Given the description of an element on the screen output the (x, y) to click on. 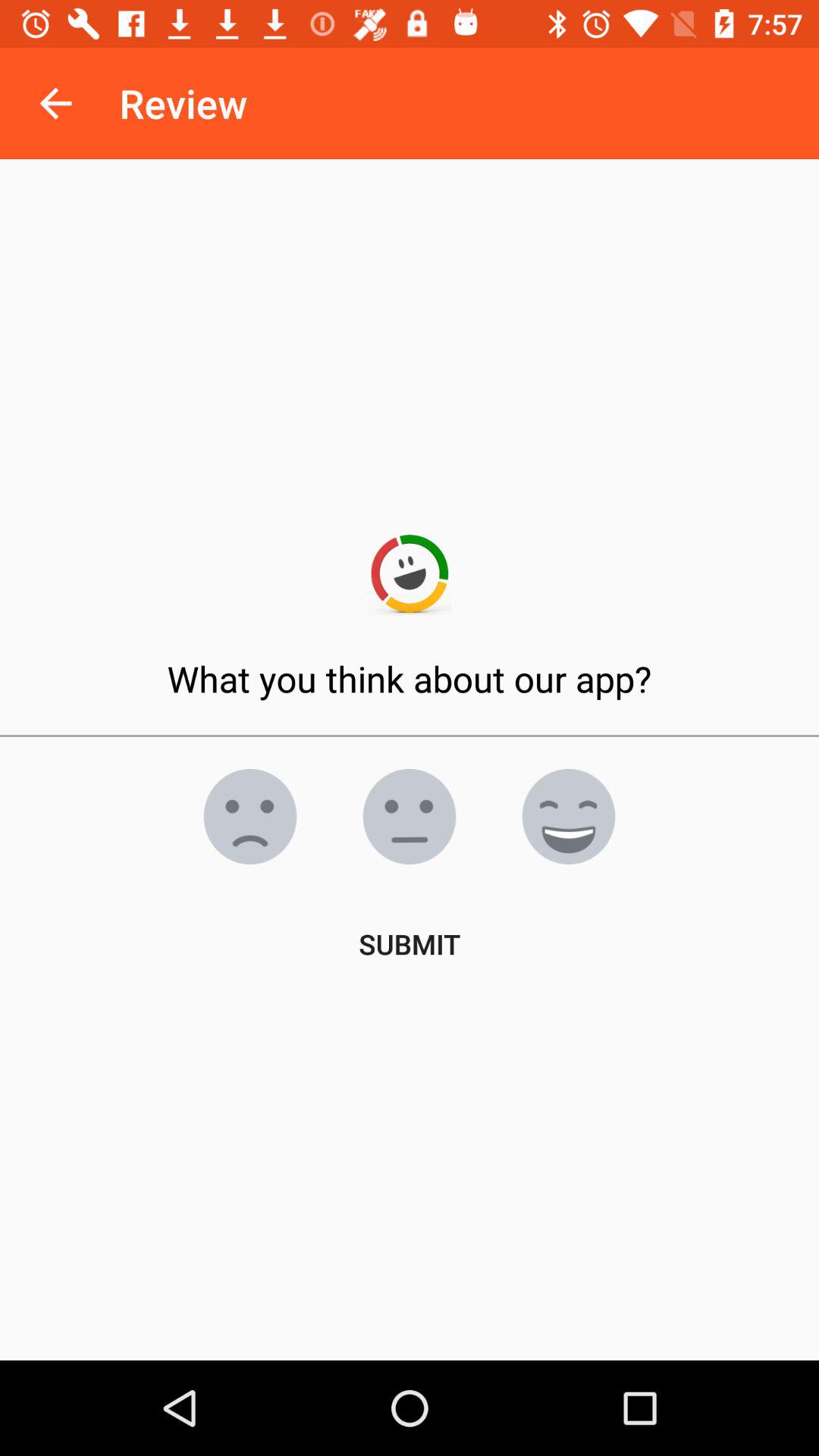
rate as average (409, 816)
